Given the description of an element on the screen output the (x, y) to click on. 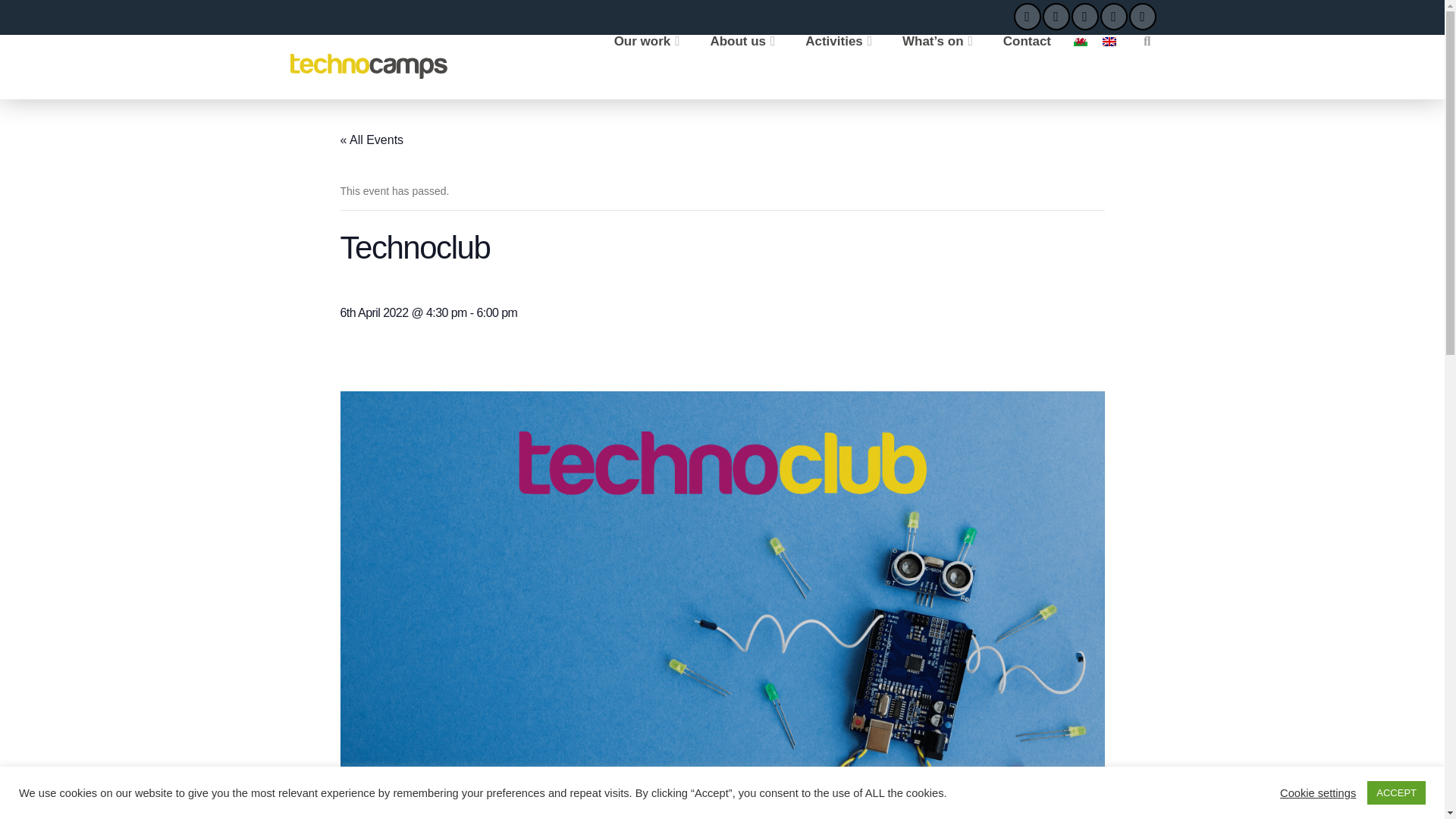
LinkedIn (1083, 16)
Contact (1026, 67)
Facebook (1026, 16)
About us (742, 67)
Cymraeg (1080, 40)
Instagram (1141, 16)
Activities (838, 67)
Contact (1026, 67)
YouTube (1112, 16)
Our work (646, 67)
